Given the description of an element on the screen output the (x, y) to click on. 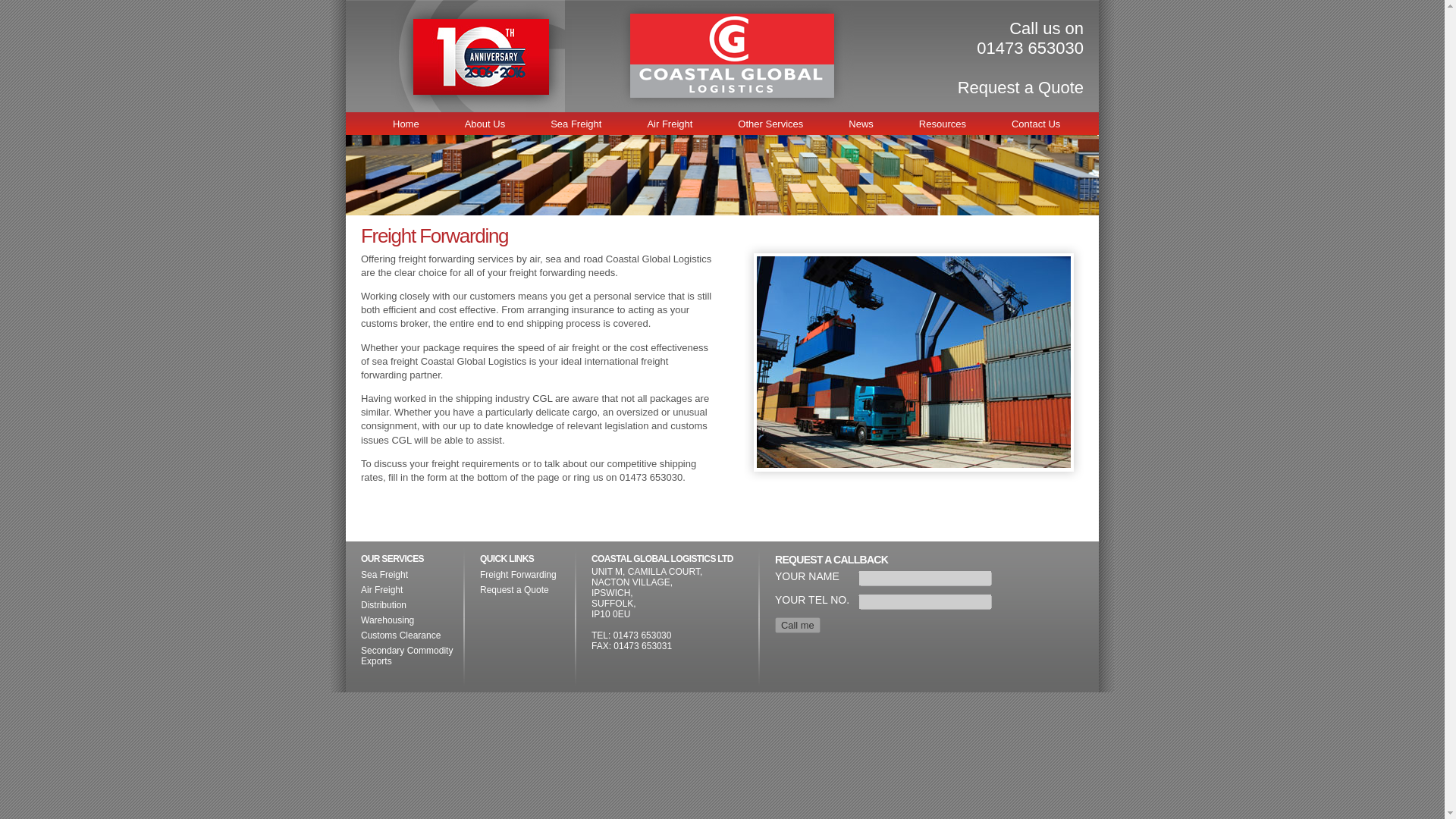
Secondary Commodity Exports (406, 655)
Contact Us (1034, 123)
Call me (797, 625)
Sea Freight (384, 574)
Warehousing (387, 620)
Sea Freight (575, 123)
Air Freight (382, 589)
Distribution (383, 604)
News (860, 123)
Customs Clearance (401, 634)
Call me (797, 625)
Air Freight (669, 123)
Request a Quote (1020, 87)
Other Services (770, 123)
About Us (484, 123)
